Given the description of an element on the screen output the (x, y) to click on. 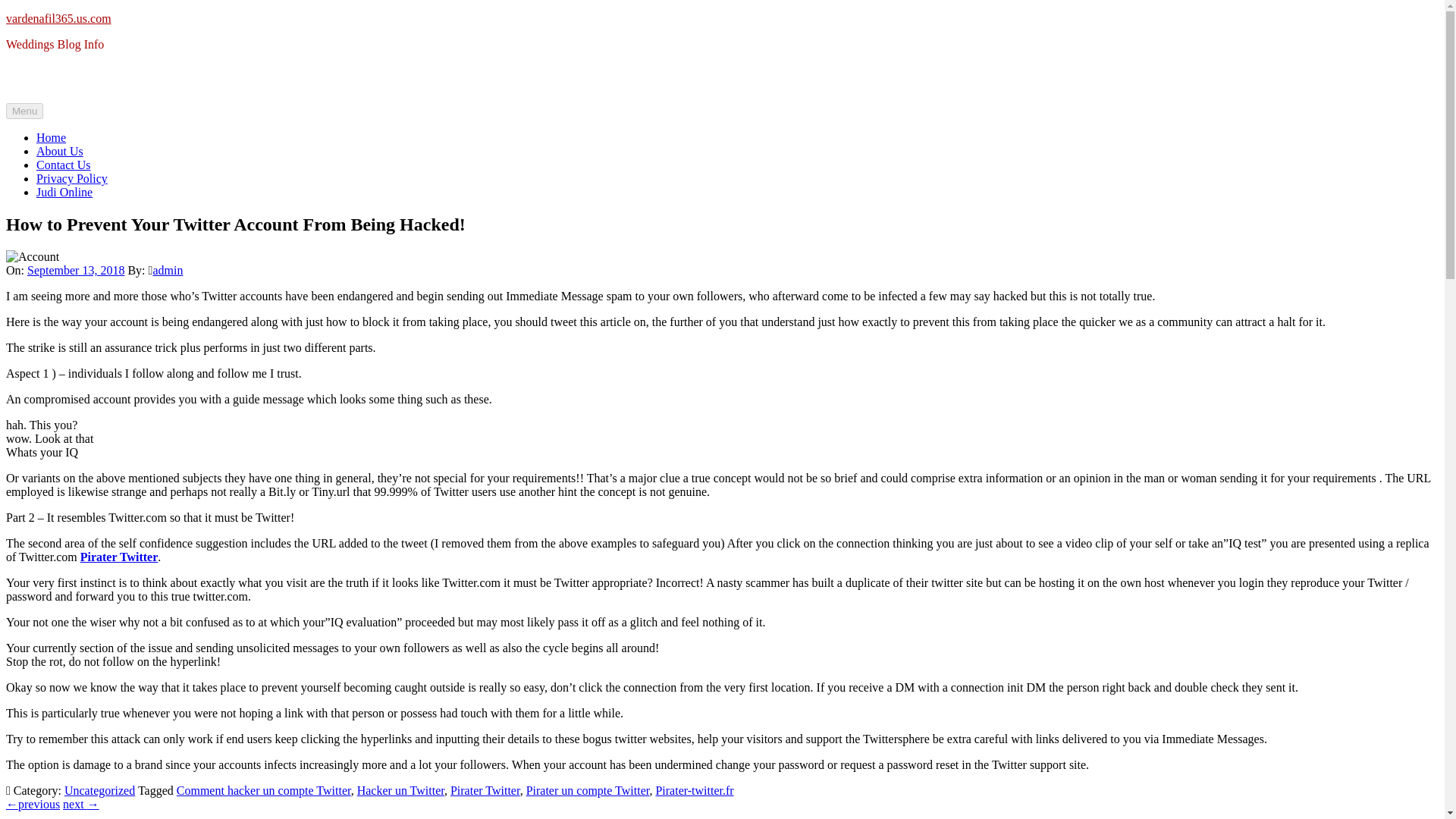
September 13, 2018 (75, 269)
Contact Us (63, 164)
Home (50, 137)
Pirater Twitter (119, 556)
Pirater un compte Twitter (587, 789)
Menu (24, 110)
About Us (59, 151)
Judi Online (64, 192)
Uncategorized (99, 789)
admin (167, 269)
Privacy Policy (71, 178)
Hacker un Twitter (400, 789)
Pirater Twitter (484, 789)
Comment hacker un compte Twitter (263, 789)
